Given the description of an element on the screen output the (x, y) to click on. 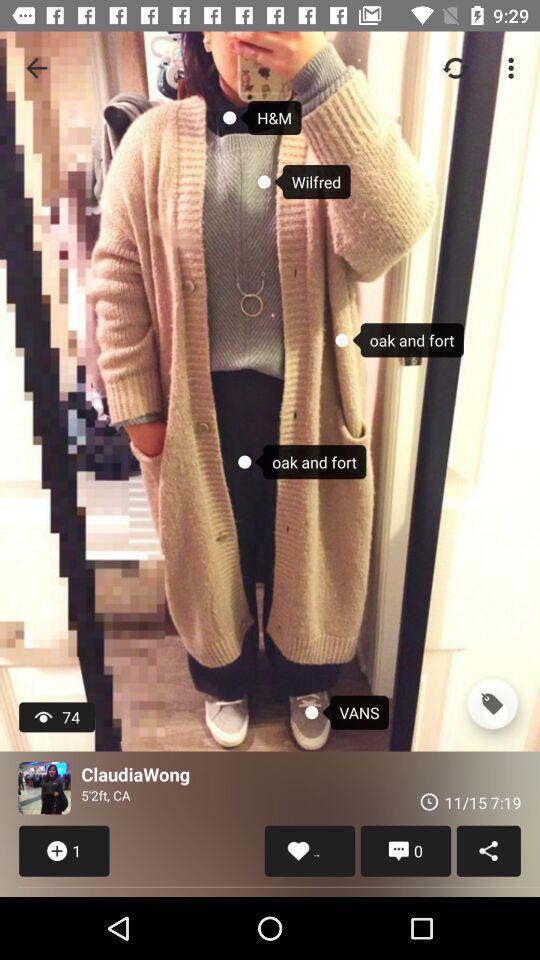
navigate to user 's profile (44, 788)
